Given the description of an element on the screen output the (x, y) to click on. 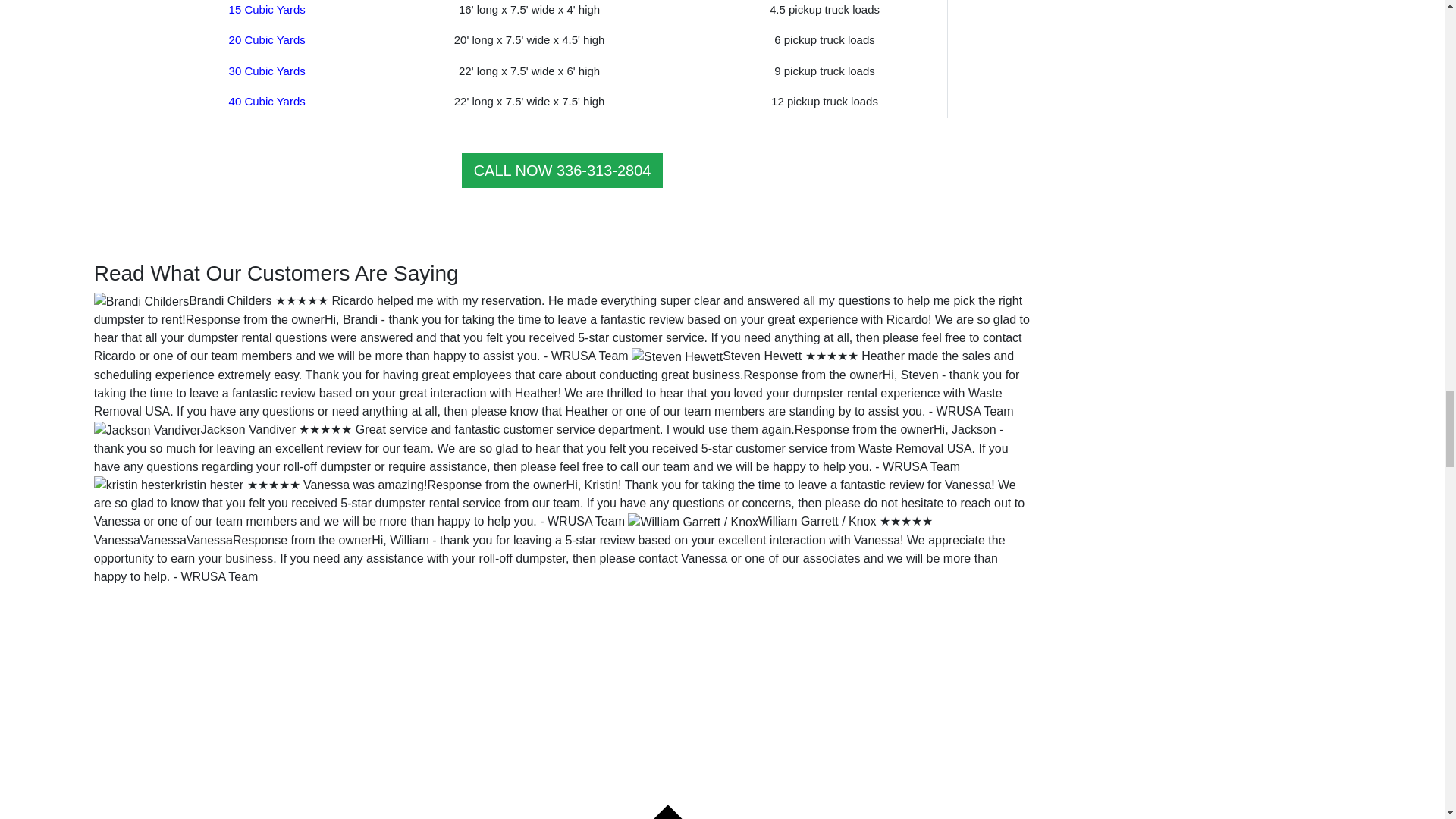
Jackson Vandiver (247, 429)
Steven Hewett (762, 355)
Vanessa was amazing! (364, 484)
Brandi Childers (229, 300)
